Given the description of an element on the screen output the (x, y) to click on. 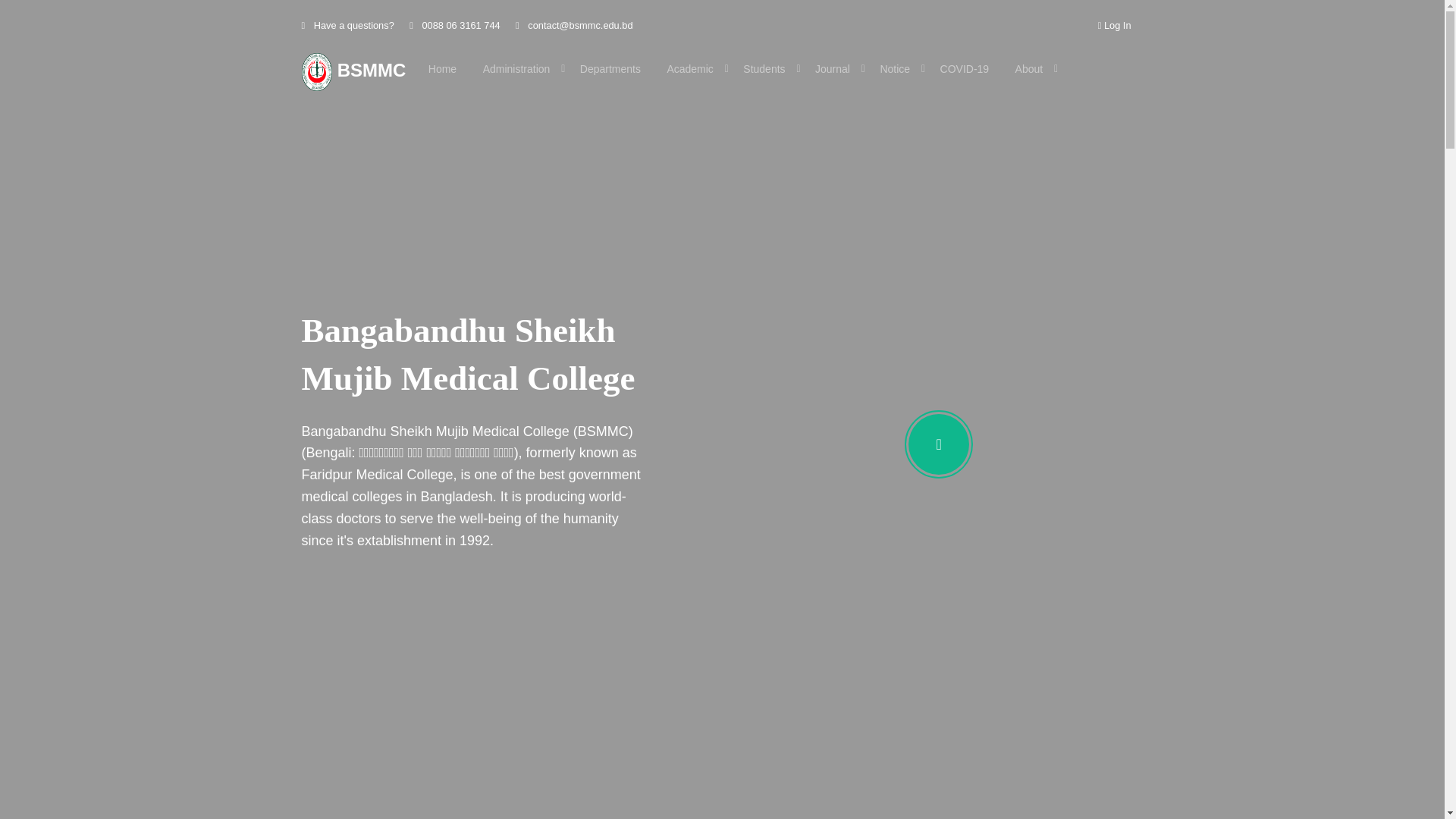
contact@bsmmc.edu.bd Element type: text (573, 25)
Administration Element type: text (518, 68)
Notice Element type: text (896, 68)
About Element type: text (1031, 68)
Departments Element type: text (610, 68)
BSMMC Element type: text (353, 72)
Have a questions? Element type: text (347, 25)
Academic Element type: text (691, 68)
Students Element type: text (765, 68)
Journal Element type: text (834, 68)
0088 06 3161 744 Element type: text (454, 25)
Log In Element type: text (1114, 25)
Home Element type: text (442, 68)
COVID-19 Element type: text (964, 68)
